Given the description of an element on the screen output the (x, y) to click on. 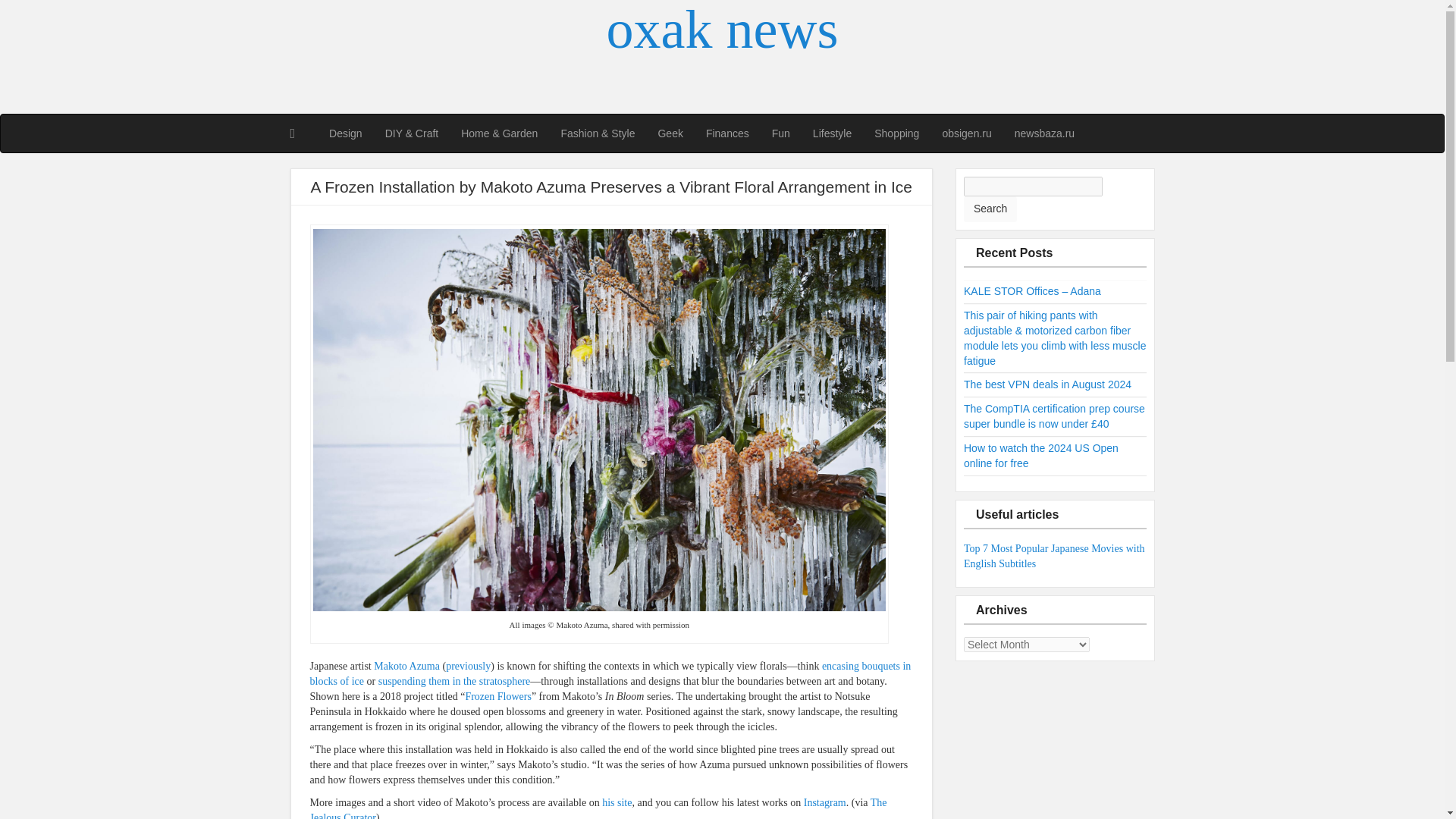
obsigen.ru (966, 133)
Shopping (896, 133)
Fun (781, 133)
Geek (670, 133)
Shopping (896, 133)
suspending them in the stratosphere (454, 681)
Search (989, 208)
Lifestyle (832, 133)
Top 7 Most Popular Japanese Movies with English Subtitles (1053, 555)
previously (467, 665)
